Given the description of an element on the screen output the (x, y) to click on. 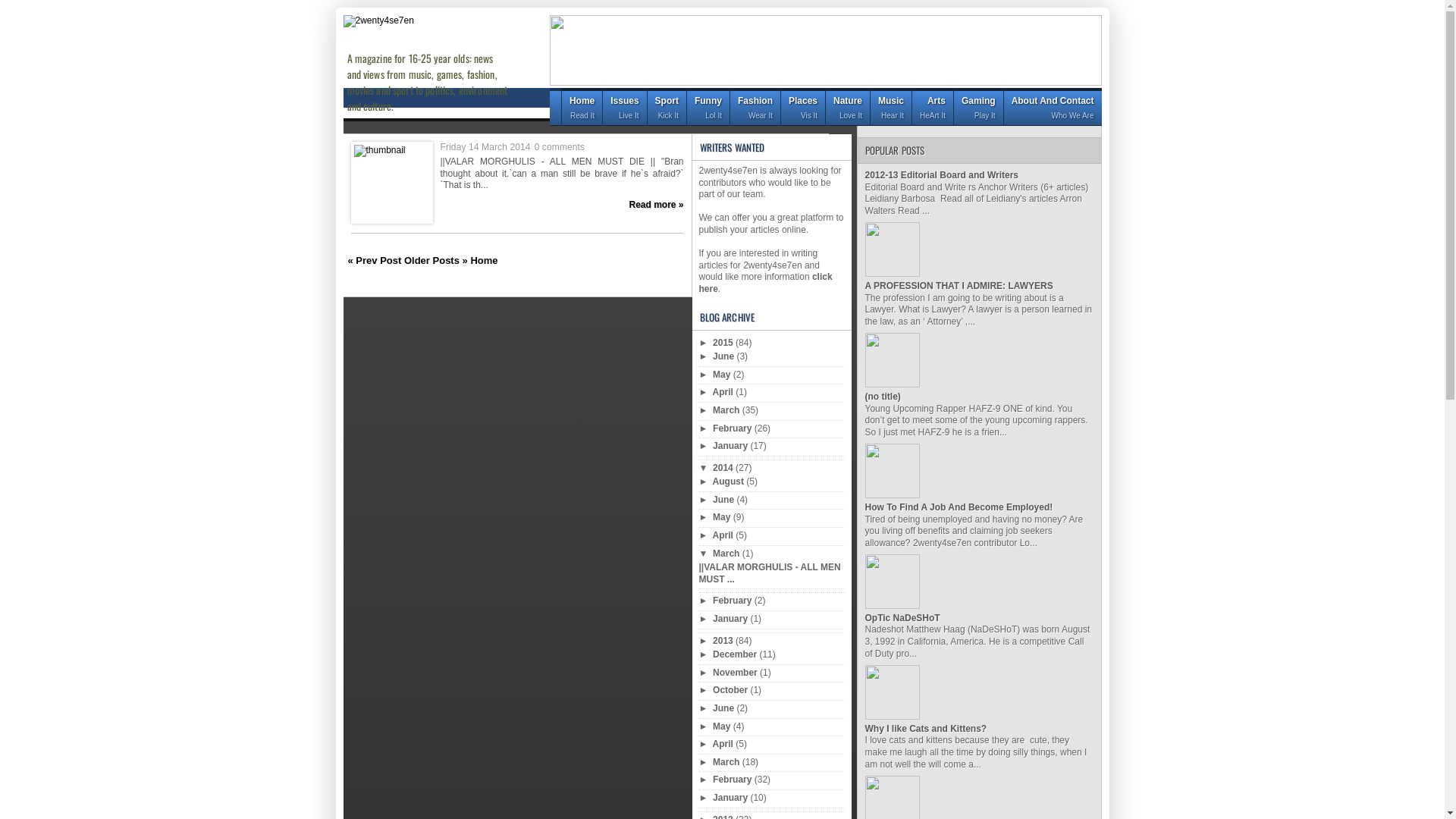
OpTic NaDeSHoT Element type: text (901, 617)
February Element type: text (733, 428)
A PROFESSION THAT I ADMIRE: LAWYERS Element type: text (958, 285)
January Element type: text (730, 797)
||VALAR MORGHULIS - ALL MEN MUST ... Element type: text (769, 572)
2014 Element type: text (723, 467)
April Element type: text (724, 535)
Home
Read It Element type: text (581, 106)
February Element type: text (733, 779)
2012-13 Editorial Board and Writers Element type: text (941, 174)
October Element type: text (730, 689)
February Element type: text (733, 600)
December Element type: text (735, 654)
(no title) Element type: text (882, 396)
May Element type: text (722, 374)
May Element type: text (722, 726)
June Element type: text (724, 707)
January Element type: text (730, 445)
Sport
Kick It Element type: text (666, 106)
Funny
Lol It Element type: text (707, 106)
March Element type: text (727, 761)
August Element type: text (729, 481)
Music
Hear It Element type: text (890, 106)
Gaming
Play It Element type: text (978, 106)
How To Find A Job And Become Employed! Element type: text (958, 507)
Fashion
Wear It Element type: text (754, 106)
November Element type: text (735, 672)
June Element type: text (724, 356)
2013 Element type: text (723, 640)
Arts
HeArt It Element type: text (932, 106)
Why I like Cats and Kittens? Element type: text (925, 728)
April Element type: text (724, 391)
May Element type: text (722, 516)
Nature
Love It Element type: text (847, 106)
2015 Element type: text (723, 342)
June Element type: text (724, 499)
About And Contact
Who We Are Element type: text (1052, 106)
Places
Vis It Element type: text (802, 106)
April Element type: text (724, 743)
Issues
Live It Element type: text (624, 106)
March Element type: text (727, 409)
March Element type: text (727, 553)
Home Element type: text (483, 260)
click here Element type: text (765, 282)
January Element type: text (730, 618)
